Given the description of an element on the screen output the (x, y) to click on. 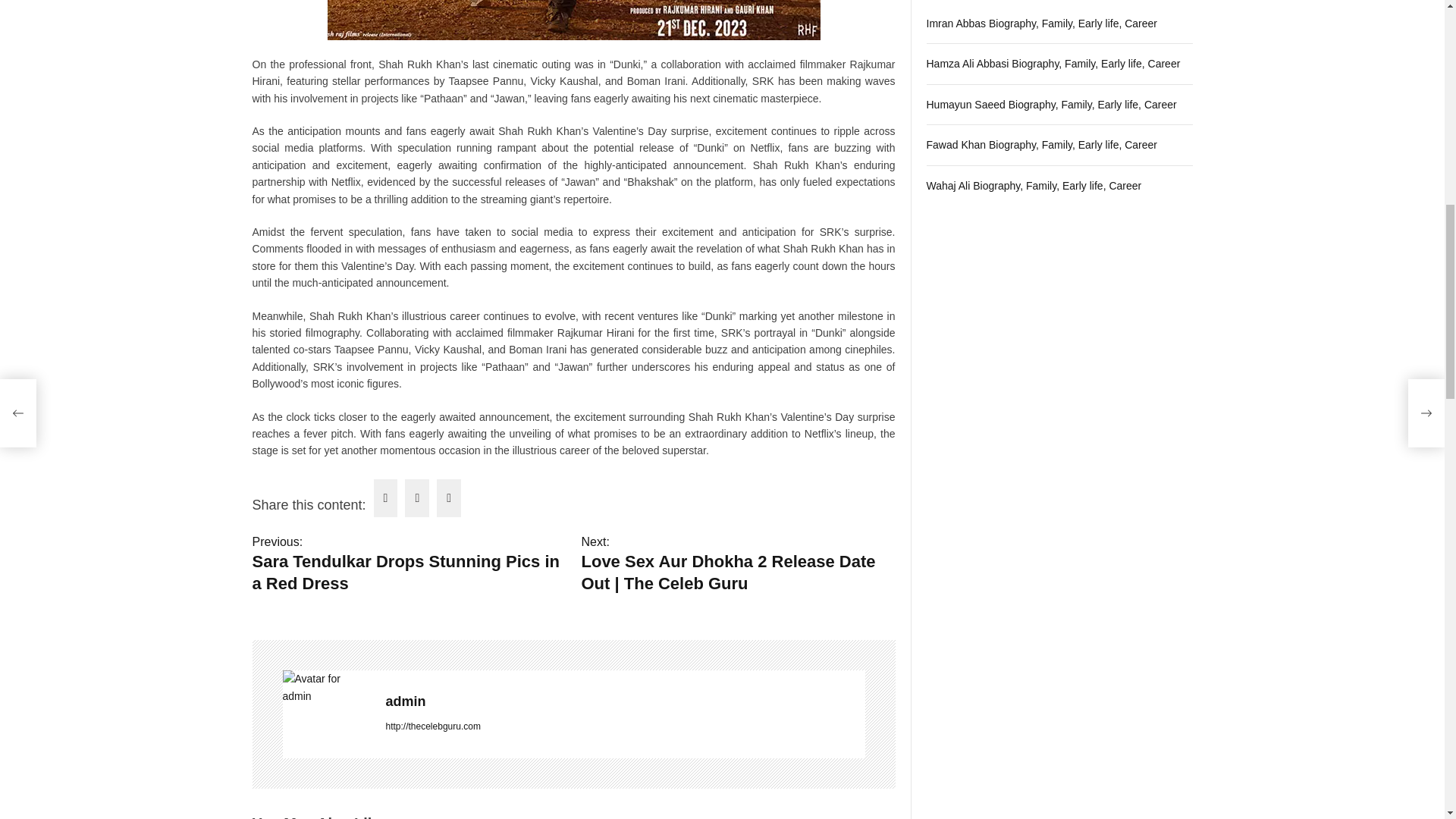
admin (624, 701)
admin (408, 563)
admin (624, 701)
